Given the description of an element on the screen output the (x, y) to click on. 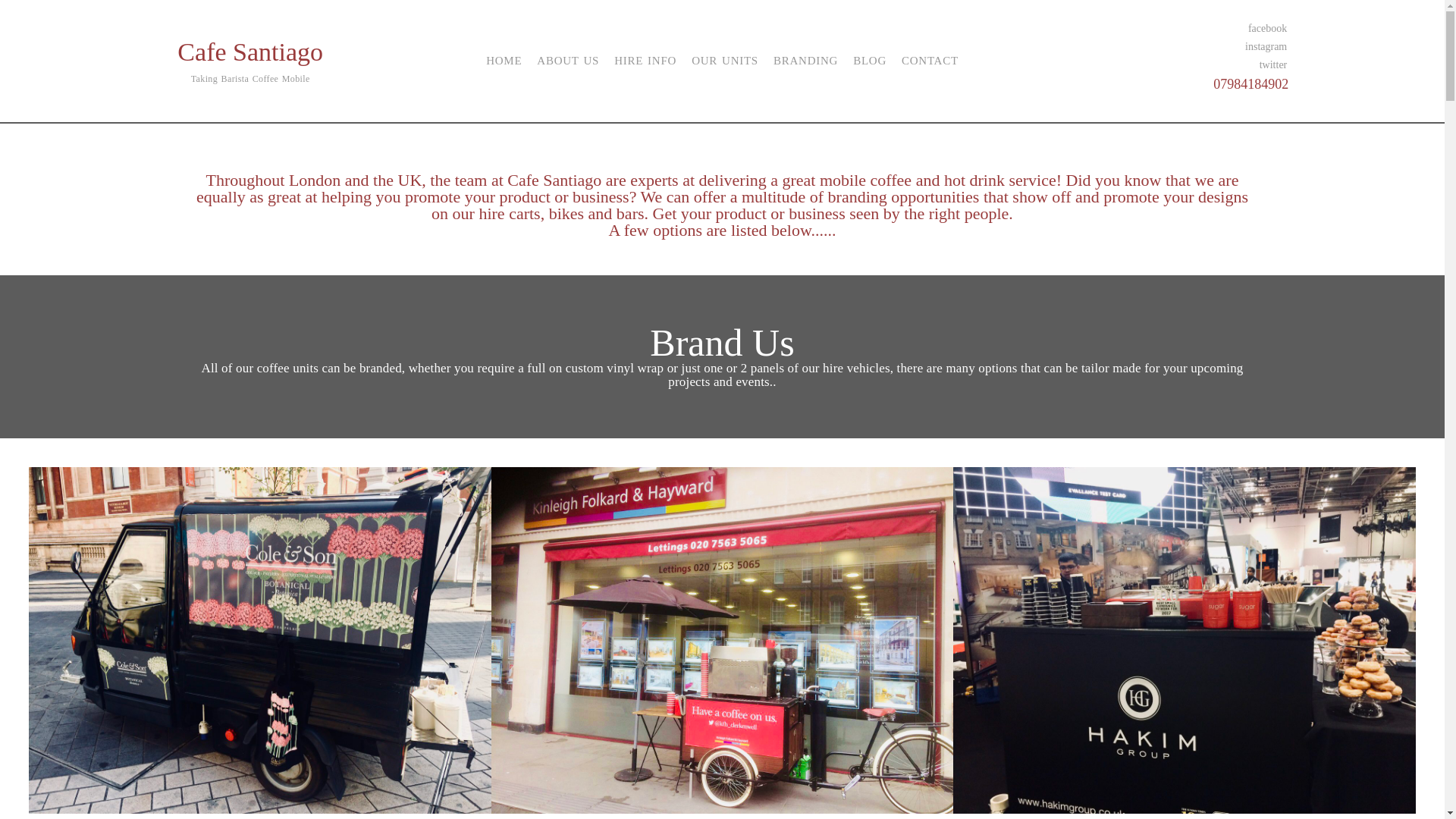
CONTACT (929, 60)
ABOUT US (567, 60)
instagram (1196, 46)
HIRE INFO (645, 60)
BRANDING (805, 60)
facebook (1196, 28)
OUR UNITS (724, 60)
twitter (1196, 65)
HOME (503, 60)
BLOG (869, 60)
